Given the description of an element on the screen output the (x, y) to click on. 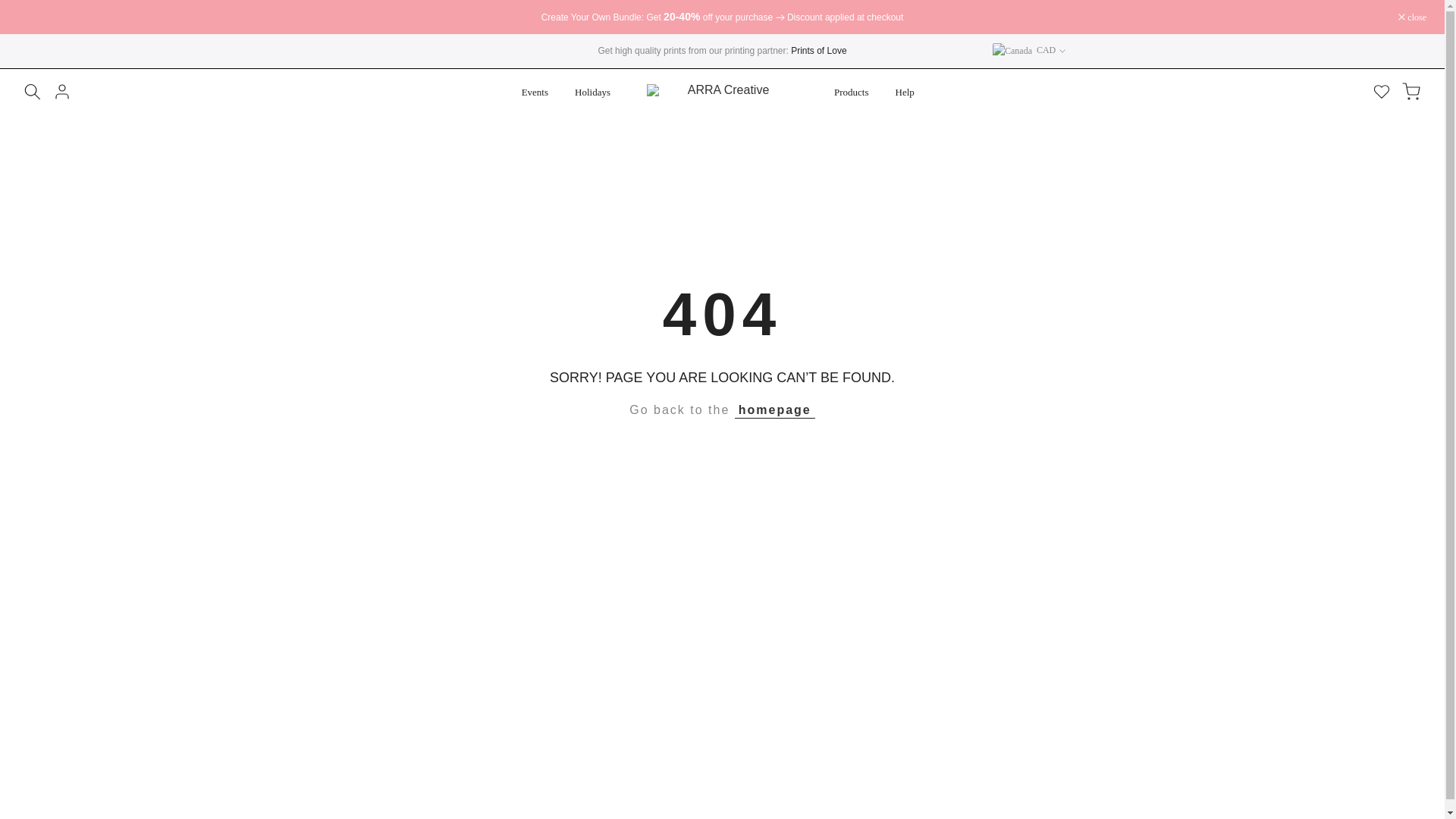
CAD (1028, 50)
Prints of Love (817, 50)
Skip to content (10, 7)
close (1411, 16)
